Given the description of an element on the screen output the (x, y) to click on. 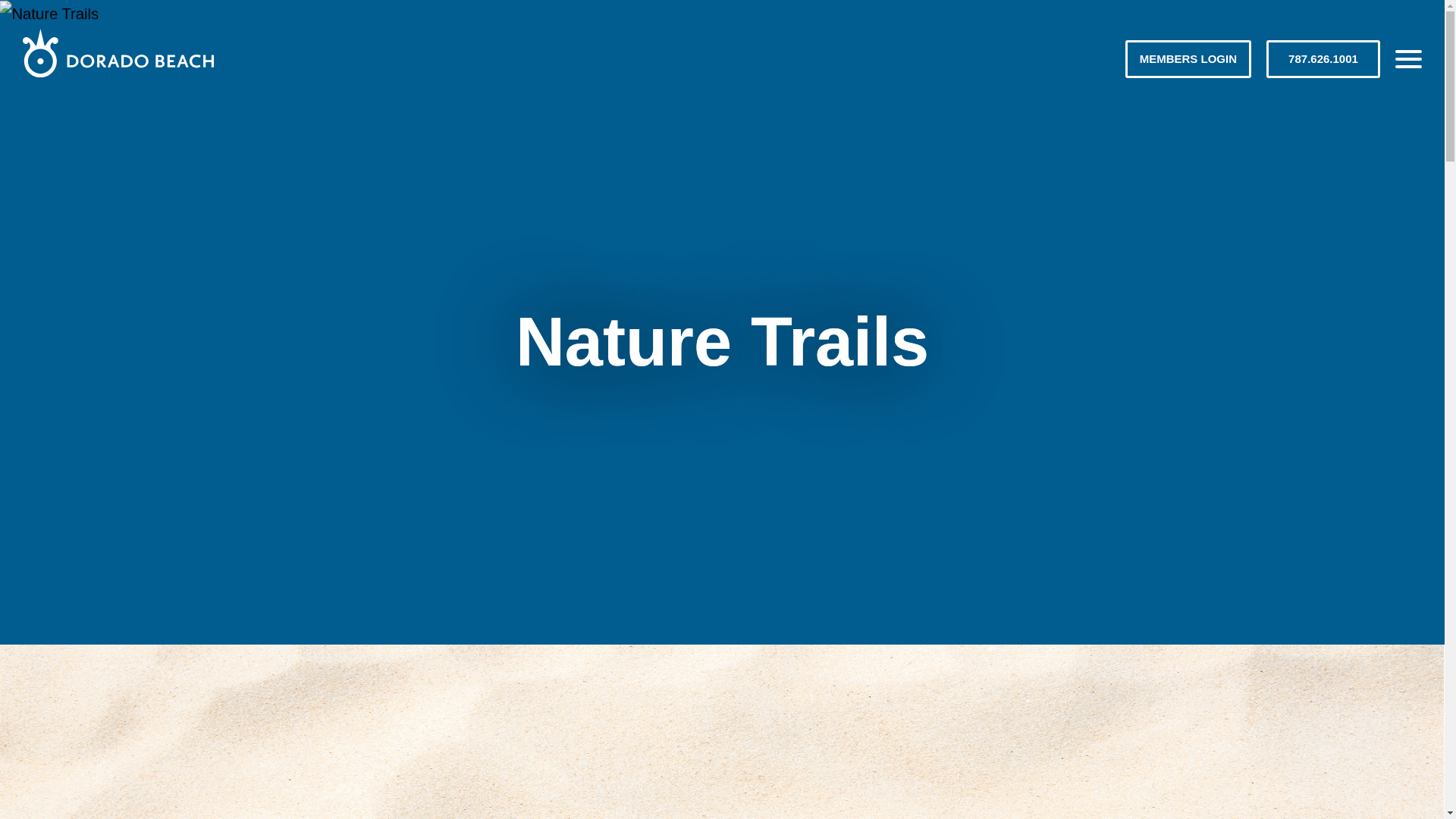
MEMBERS LOGIN (1187, 58)
787.626.1001 (1323, 58)
